Given the description of an element on the screen output the (x, y) to click on. 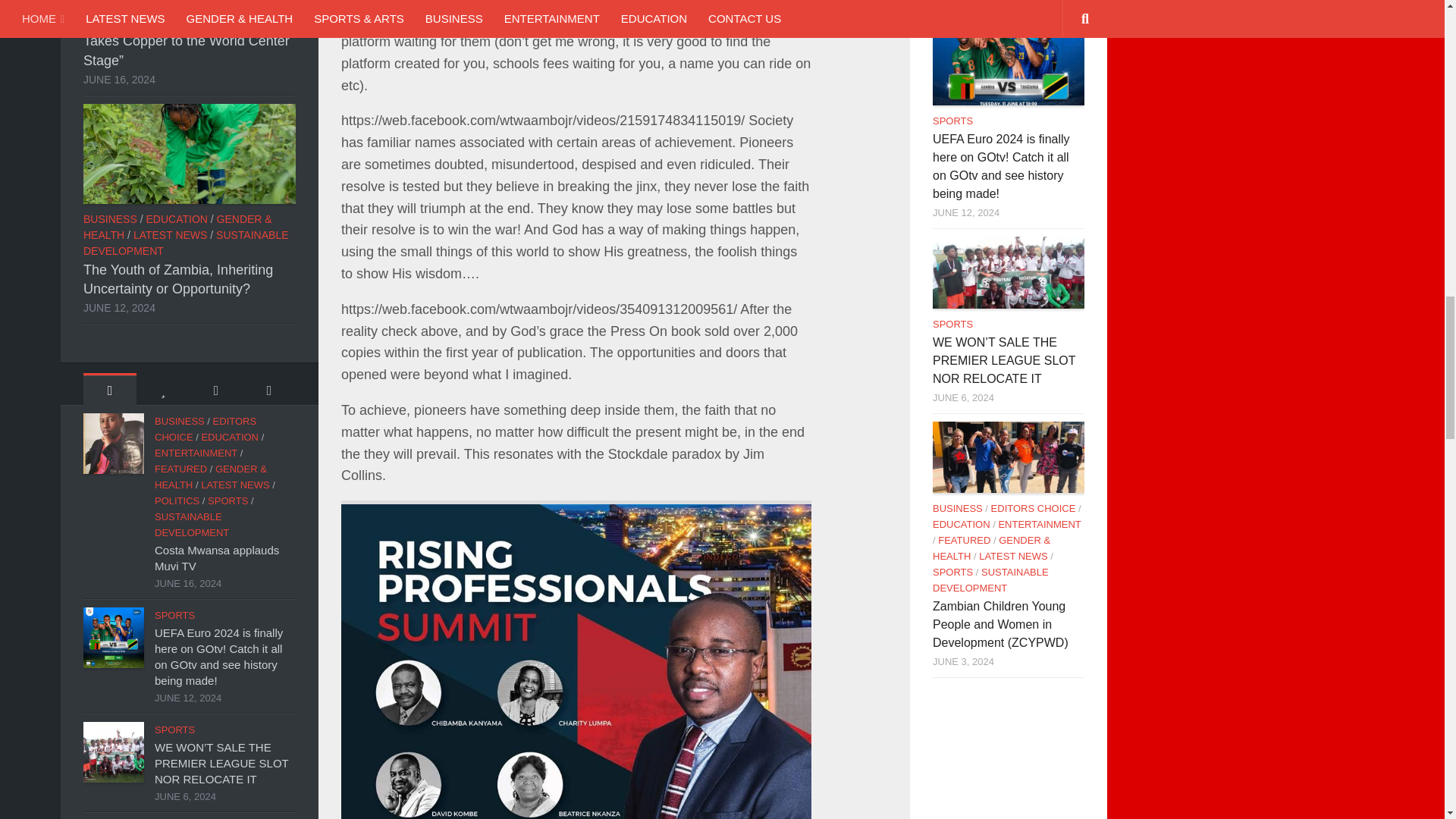
Recent Posts (109, 389)
Popular Posts (162, 389)
Recent Comments (216, 389)
Tags (269, 389)
